Given the description of an element on the screen output the (x, y) to click on. 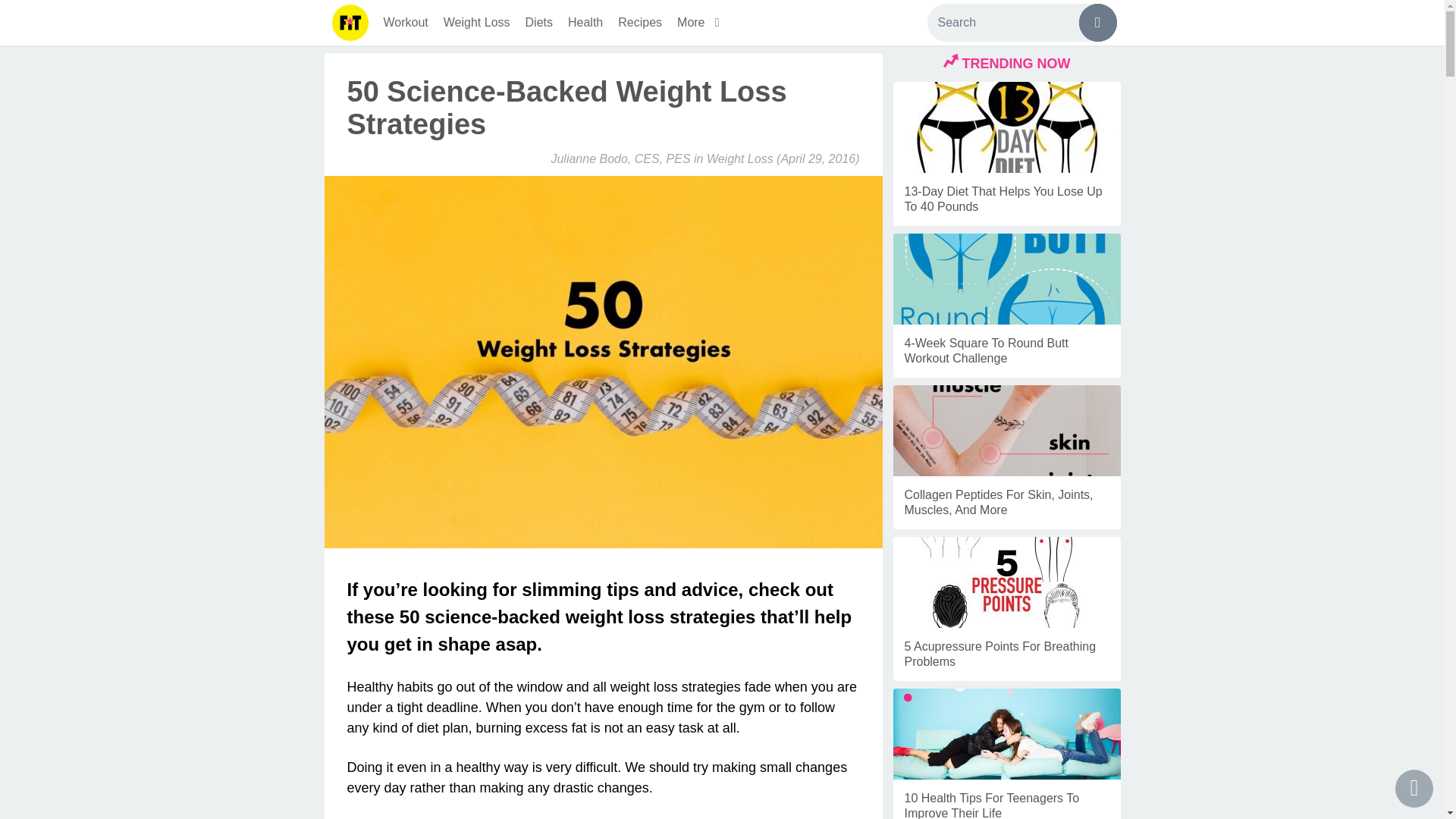
Julianne Bodo, CES, PES (620, 158)
Workout (405, 22)
Diets (539, 22)
Health (585, 22)
Recipes (639, 22)
Weight Loss (739, 158)
Search (1021, 22)
More (701, 22)
Weight Loss (476, 22)
Posts by Julianne Bodo, CES, PES (620, 158)
